Given the description of an element on the screen output the (x, y) to click on. 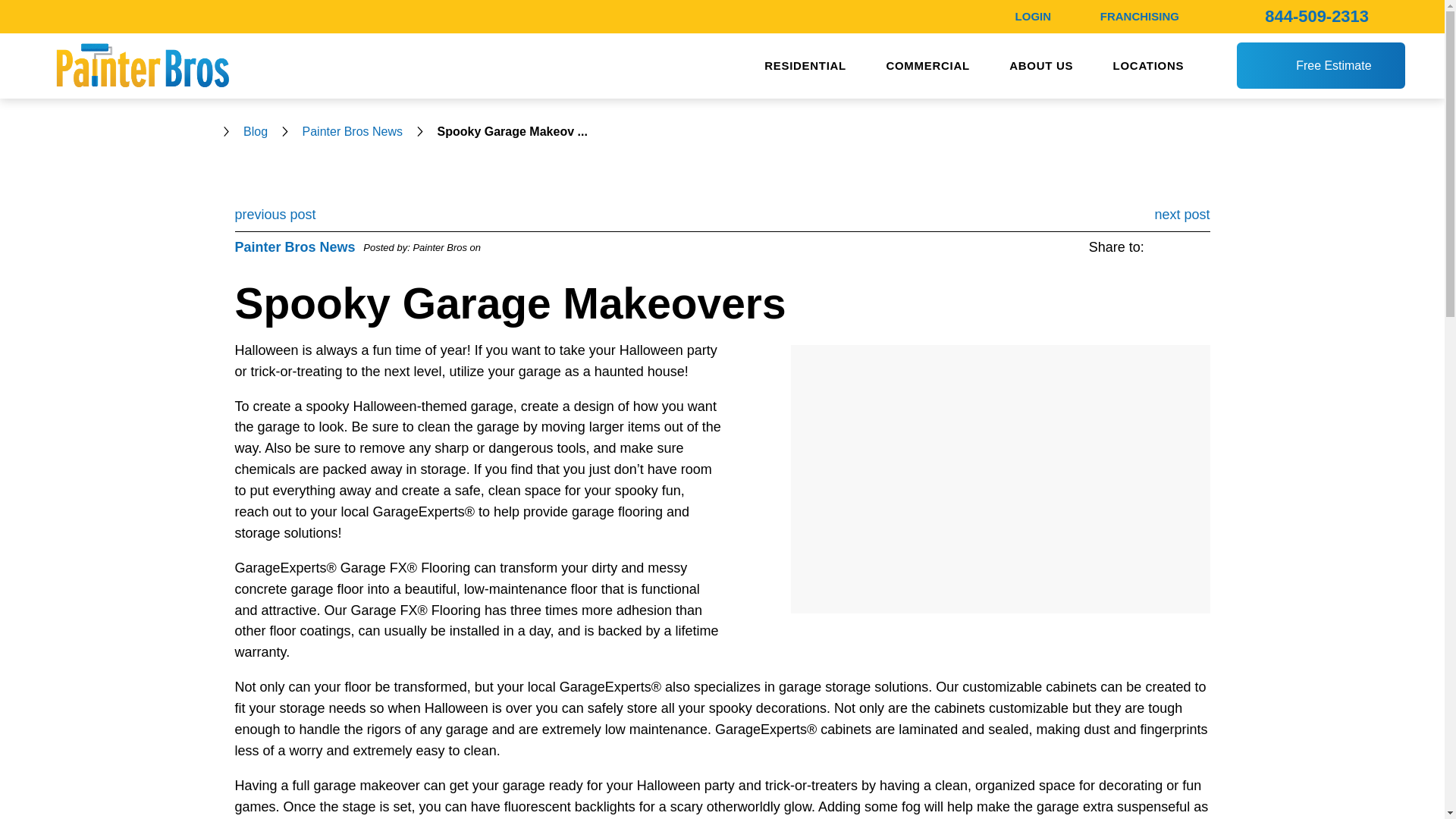
spooky halloween themed garage (999, 478)
Go Home (208, 132)
LOGIN (1032, 15)
Open the accessibility options menu (31, 786)
FRANCHISING (1139, 15)
Painter Bros (140, 65)
COMMERCIAL (926, 65)
RESIDENTIAL (805, 65)
844-509-2313 (1316, 15)
